Given the description of an element on the screen output the (x, y) to click on. 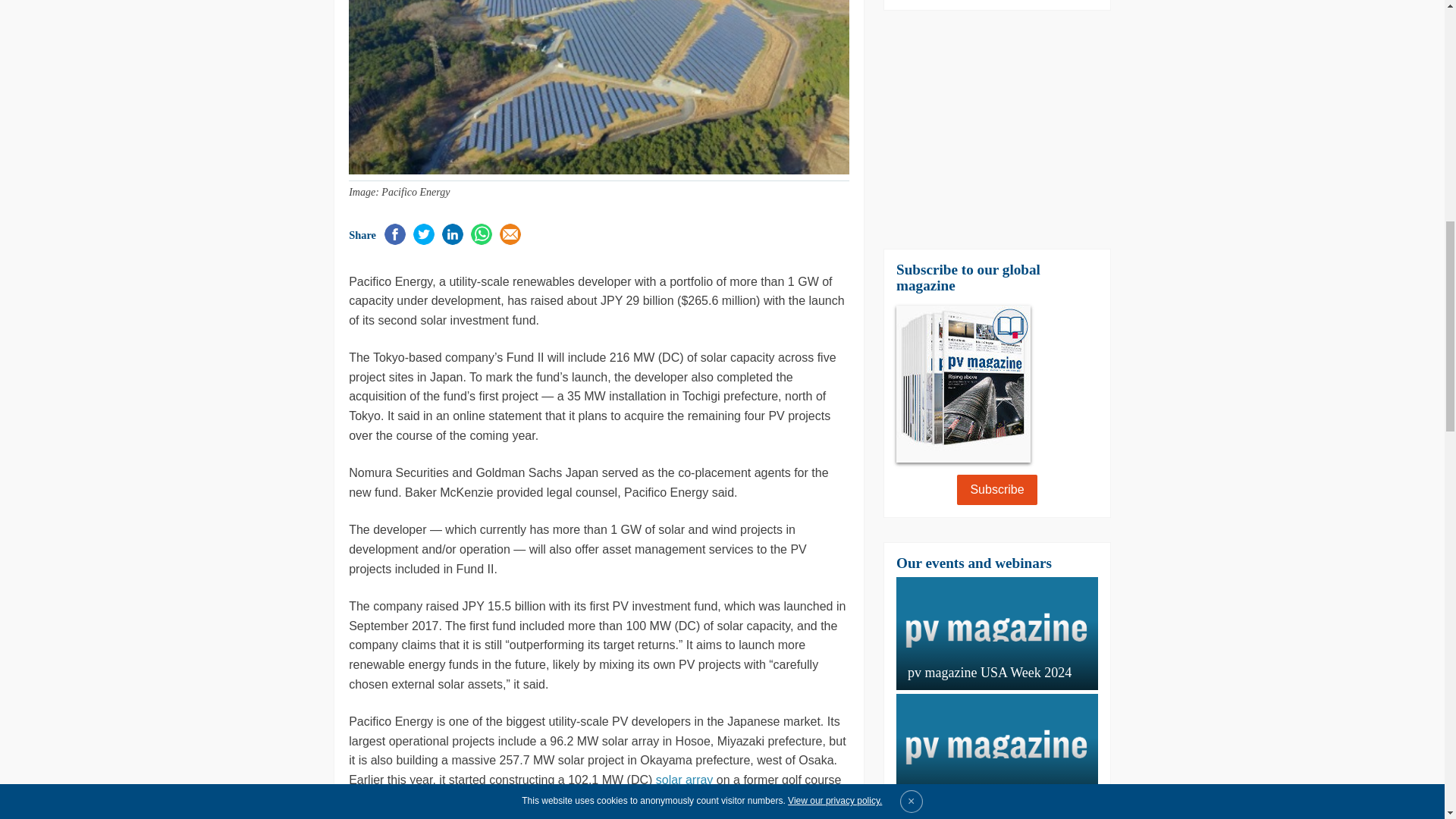
3rd party ad content (996, 129)
3rd party ad content (1199, 115)
3rd party ad content (243, 472)
3rd party ad content (243, 115)
3rd party ad content (1199, 472)
